Given the description of an element on the screen output the (x, y) to click on. 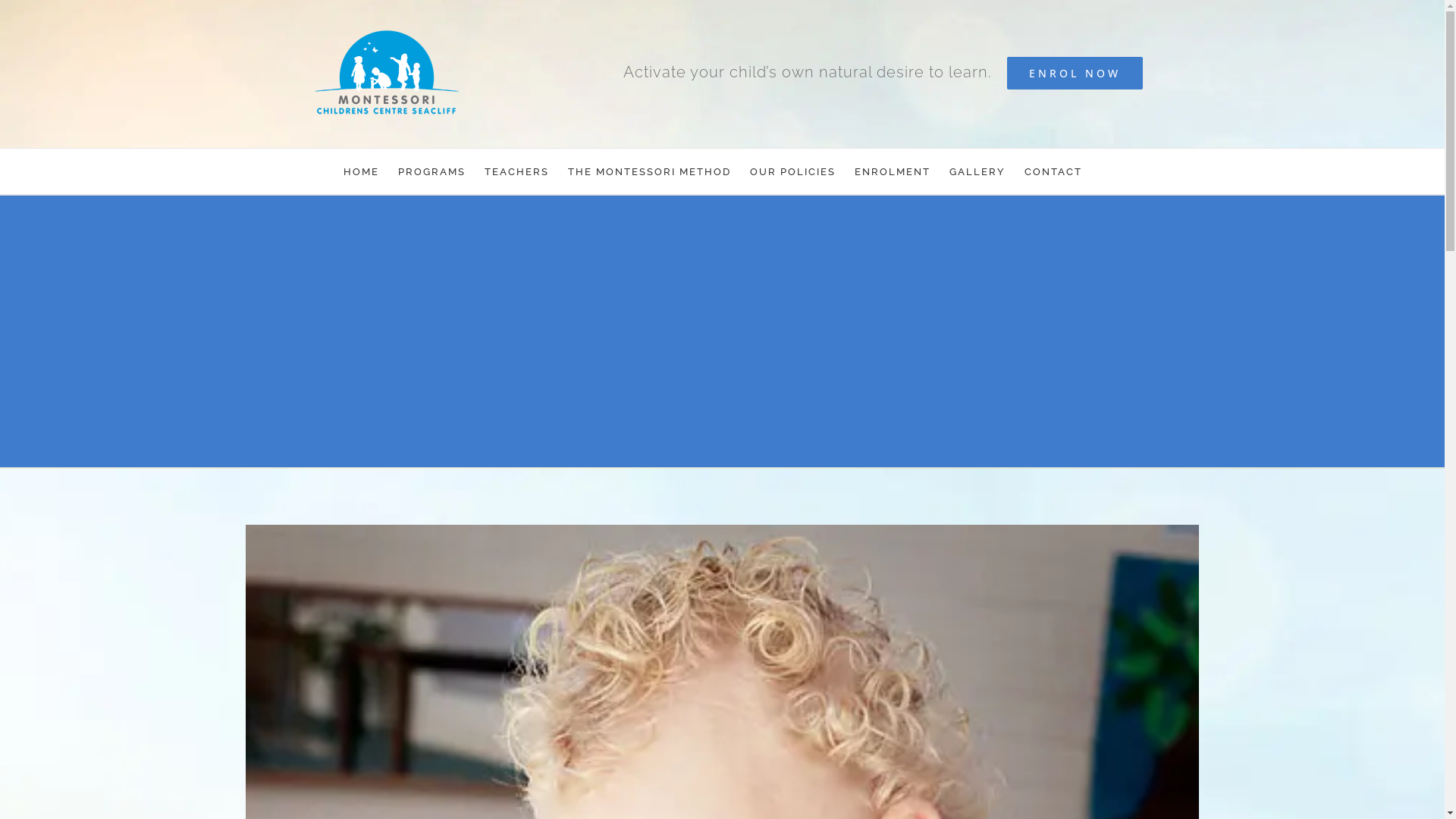
PROGRAMS Element type: text (431, 171)
CONTACT Element type: text (1053, 171)
GALLERY Element type: text (977, 171)
HOME Element type: text (361, 171)
ENROLMENT Element type: text (892, 171)
THE MONTESSORI METHOD Element type: text (649, 171)
TEACHERS Element type: text (516, 171)
OUR POLICIES Element type: text (792, 171)
ENROL NOW Element type: text (1074, 72)
